Given the description of an element on the screen output the (x, y) to click on. 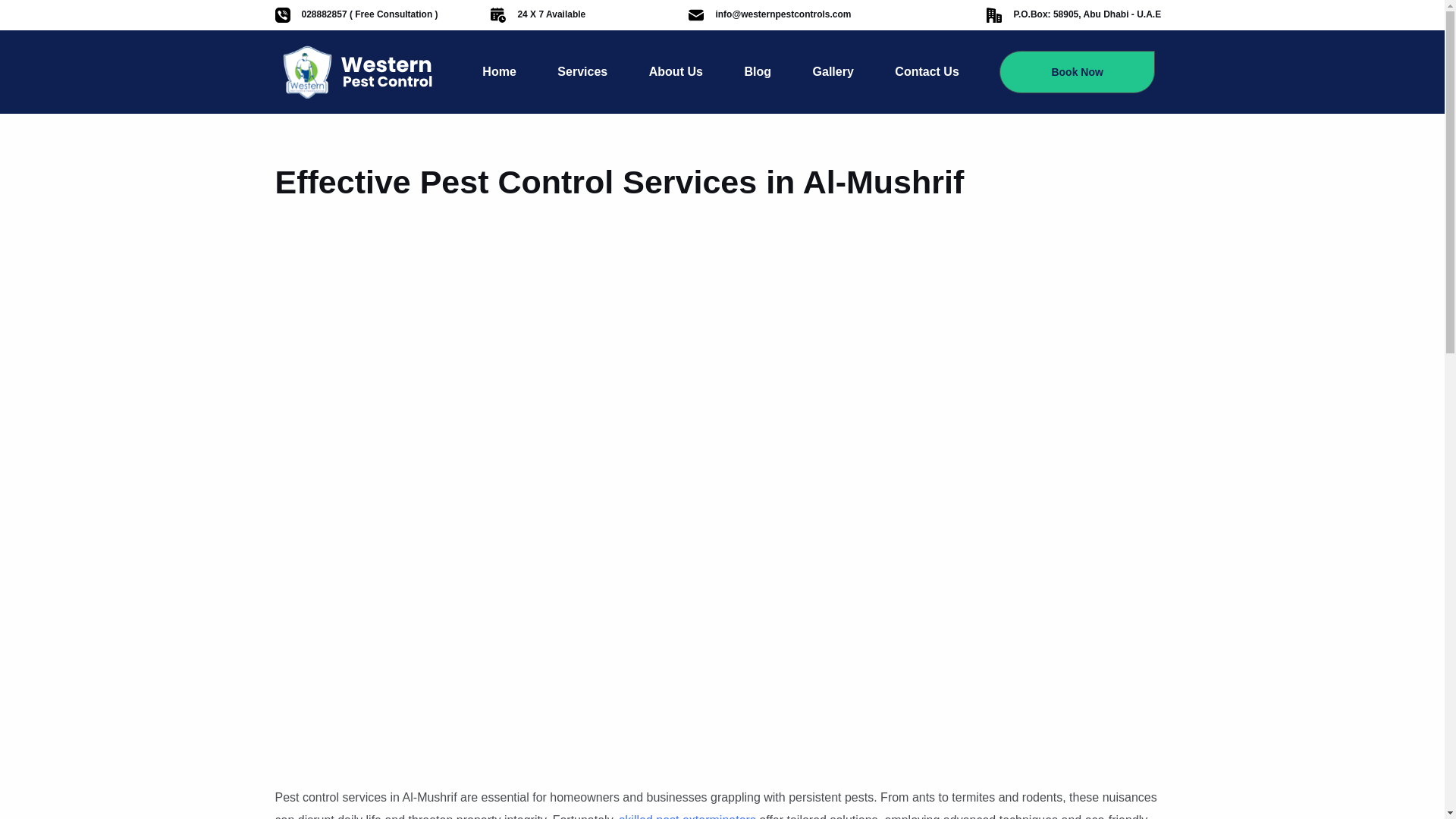
Blog (757, 71)
Services (582, 71)
P.O.Box: 58905, Abu Dhabi - U.A.E (1086, 14)
skilled pest exterminators (685, 816)
Home (499, 71)
Gallery (833, 71)
Contact Us (927, 71)
Book Now (1076, 71)
About Us (675, 71)
